Given the description of an element on the screen output the (x, y) to click on. 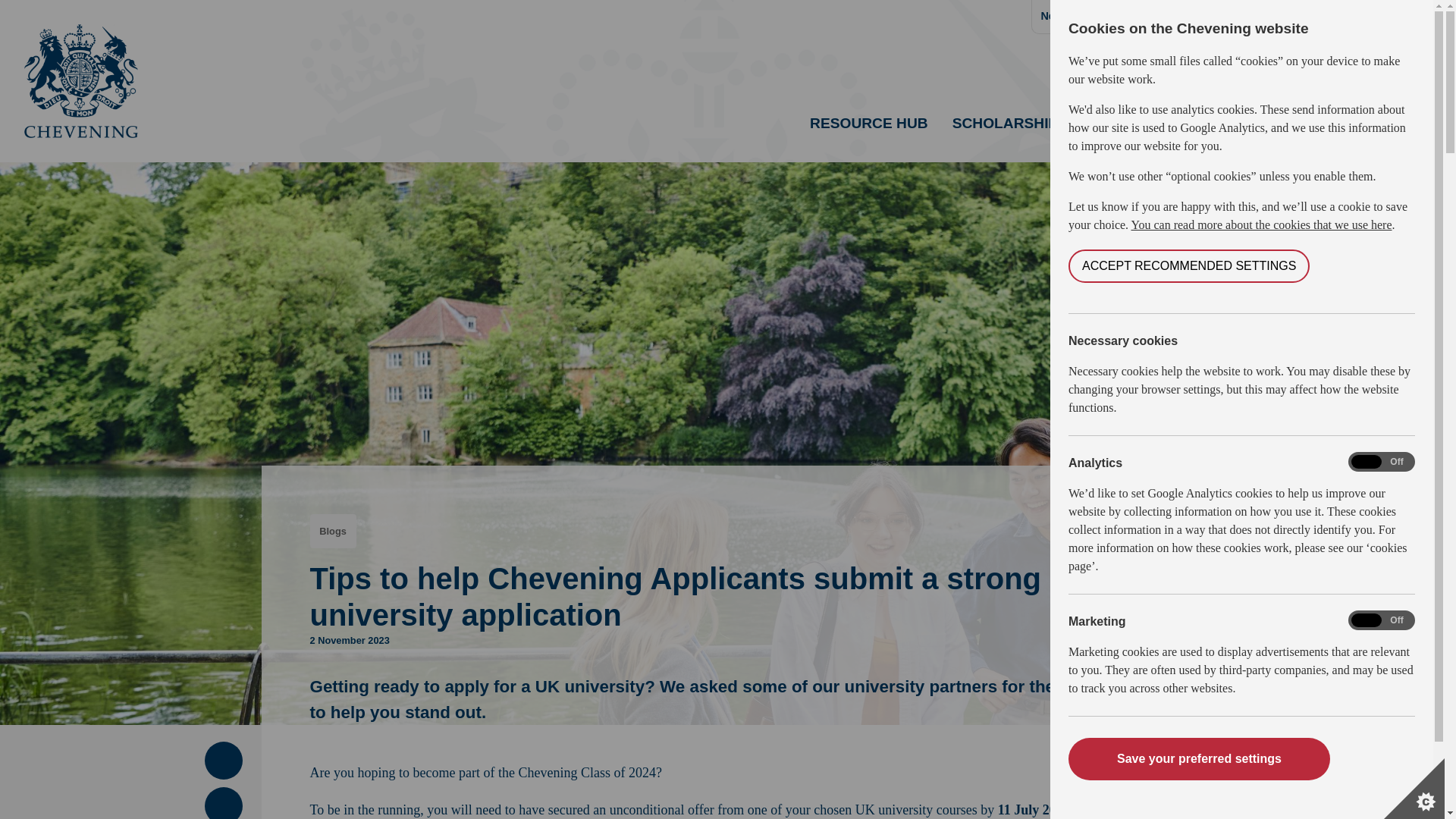
FELLOWSHIPS (1144, 133)
Twitter (223, 805)
Home (1299, 16)
OUR IMPACT (1266, 133)
SCHOLARSHIPS (1010, 133)
APPLY (1376, 133)
Partner with us (1227, 16)
Facebook (223, 760)
About us (1148, 16)
RESOURCE HUB (868, 133)
